Given the description of an element on the screen output the (x, y) to click on. 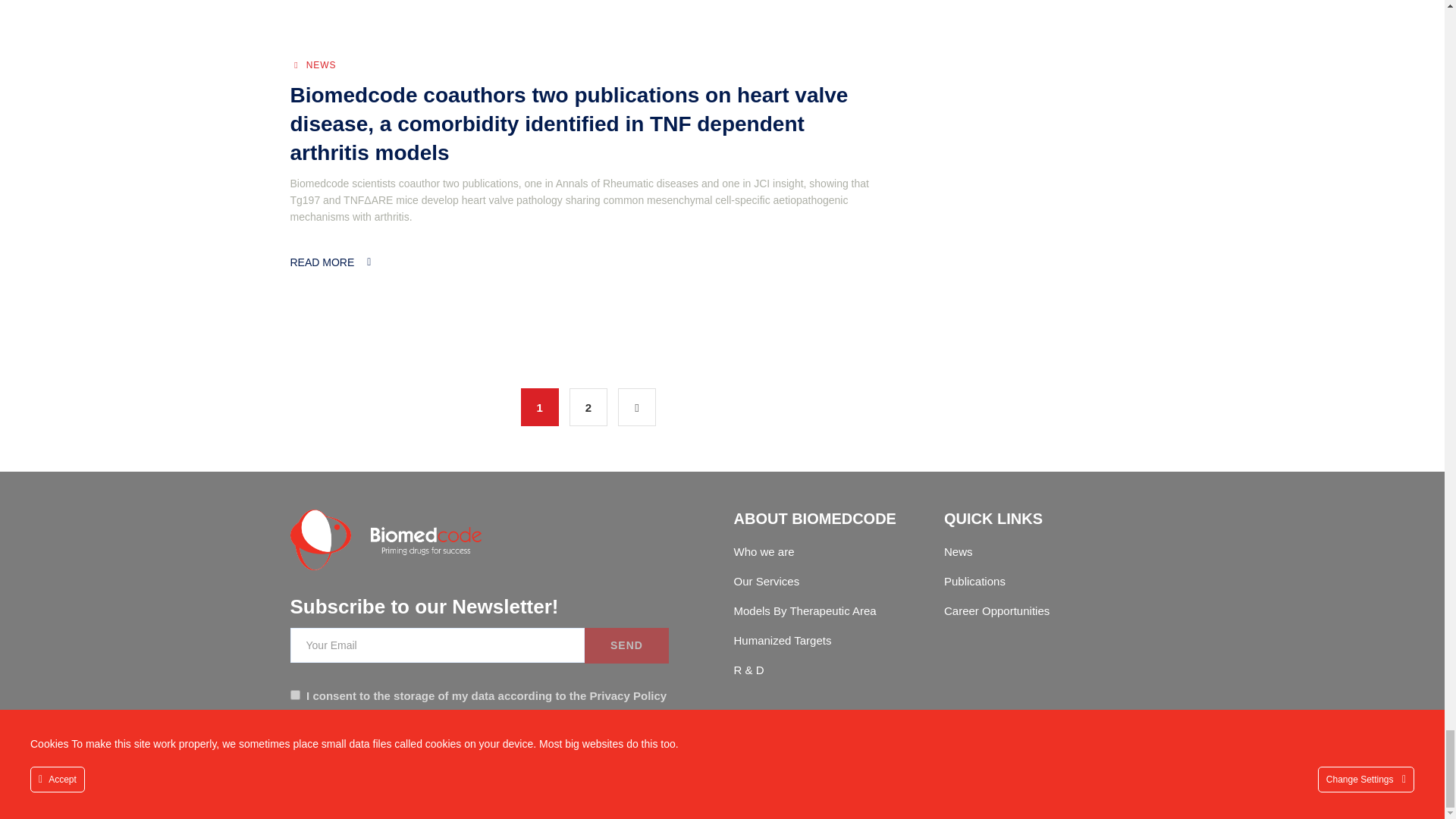
Send (626, 645)
Your Email (437, 645)
on (294, 695)
